Given the description of an element on the screen output the (x, y) to click on. 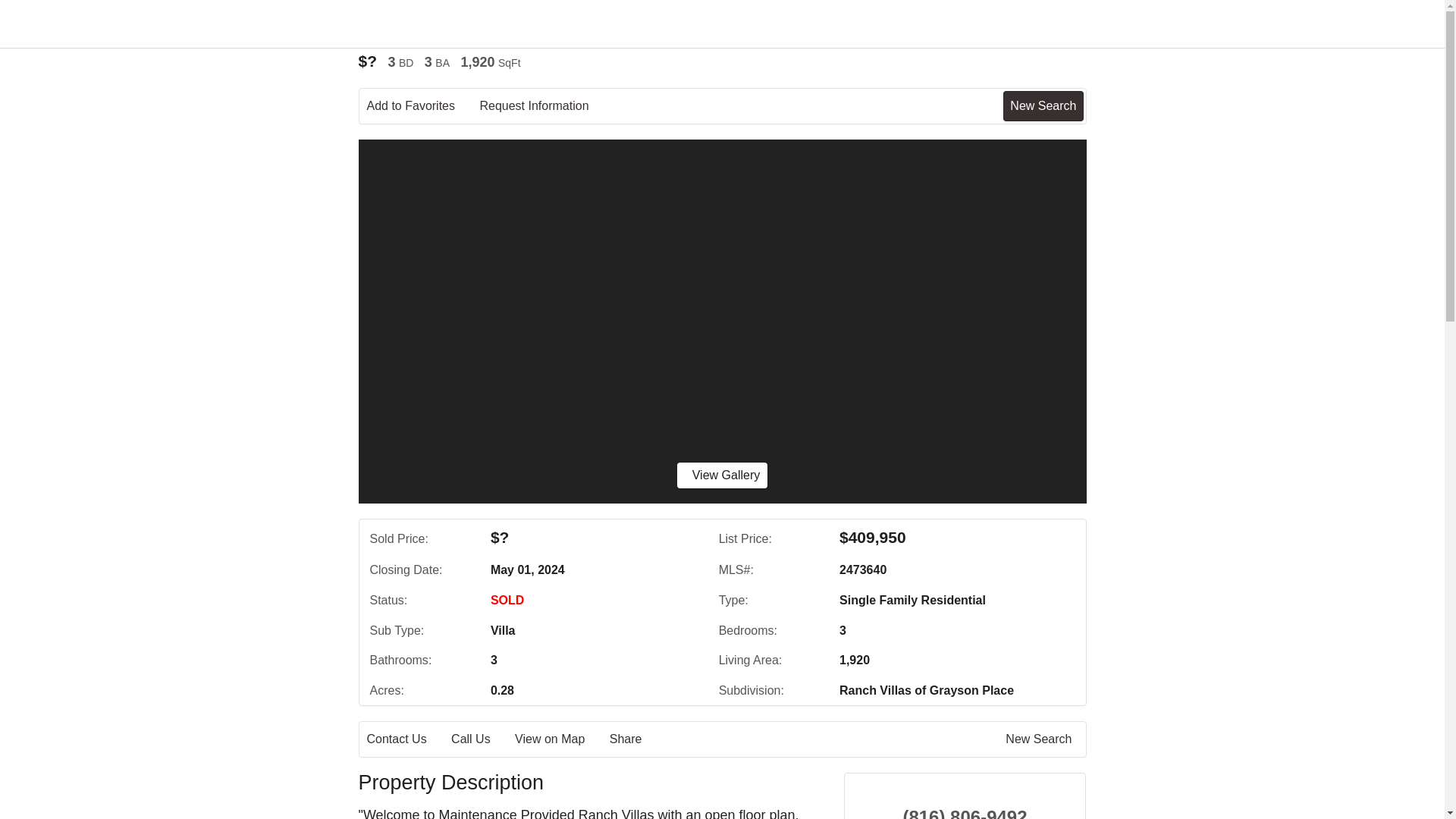
Contact Us (407, 739)
View on Map (560, 739)
Add to Favorites (421, 106)
New Search (1041, 739)
Call Us (481, 739)
New Search (1043, 105)
Request Information (544, 106)
View Gallery (722, 474)
View Gallery (722, 475)
Share (636, 739)
